Given the description of an element on the screen output the (x, y) to click on. 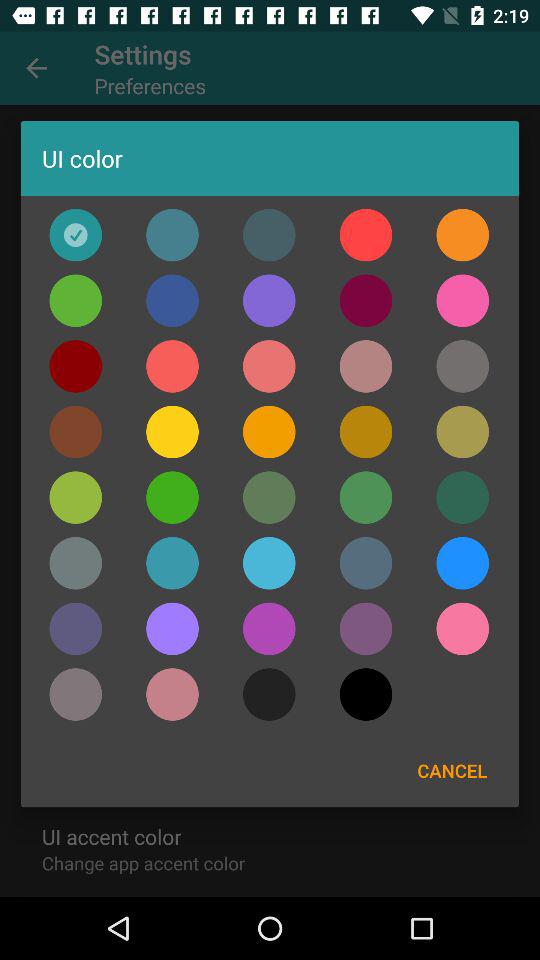
select yellow color (172, 431)
